Given the description of an element on the screen output the (x, y) to click on. 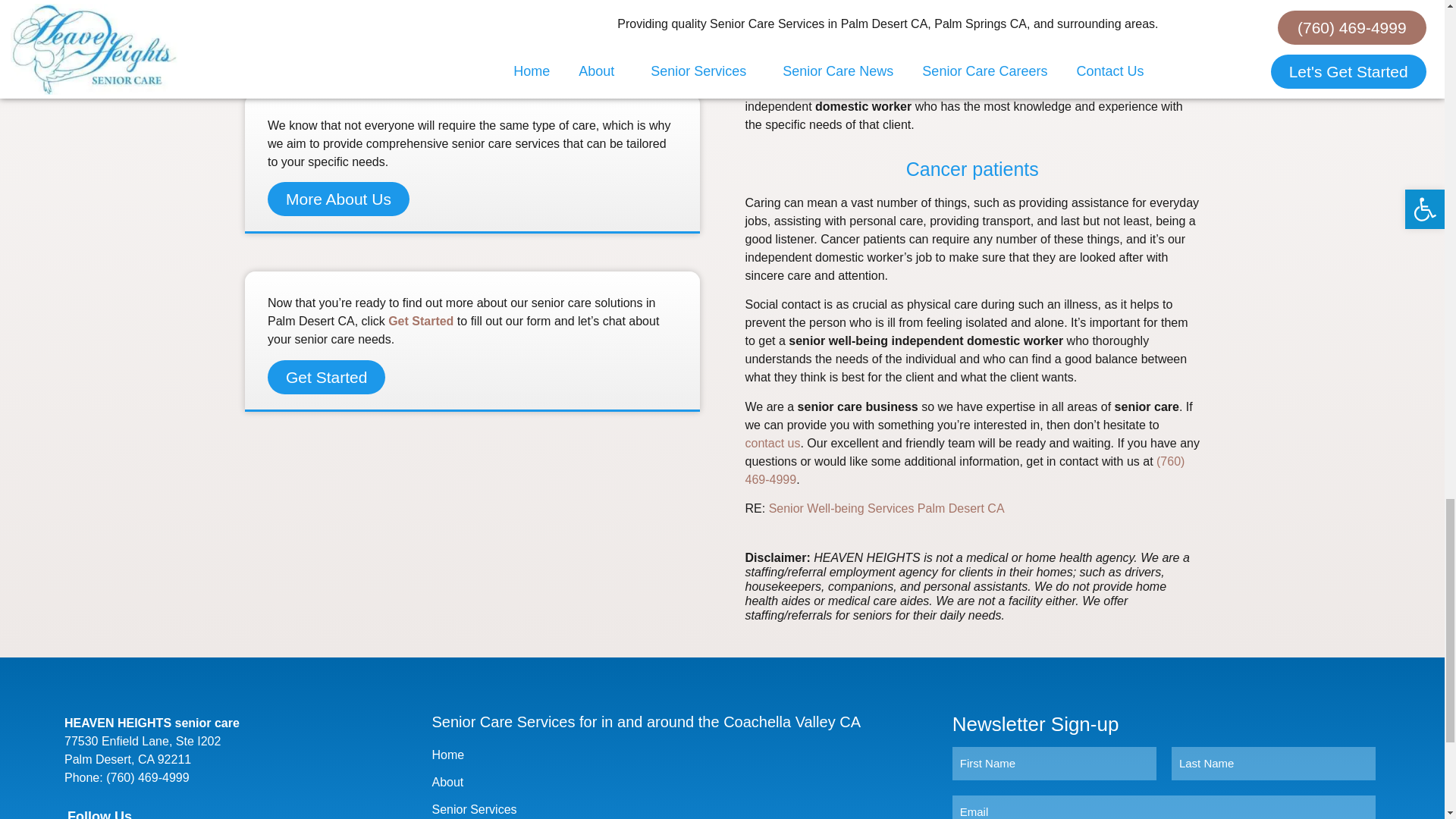
Home Health Care Services Carlsbad CA (886, 508)
